Given the description of an element on the screen output the (x, y) to click on. 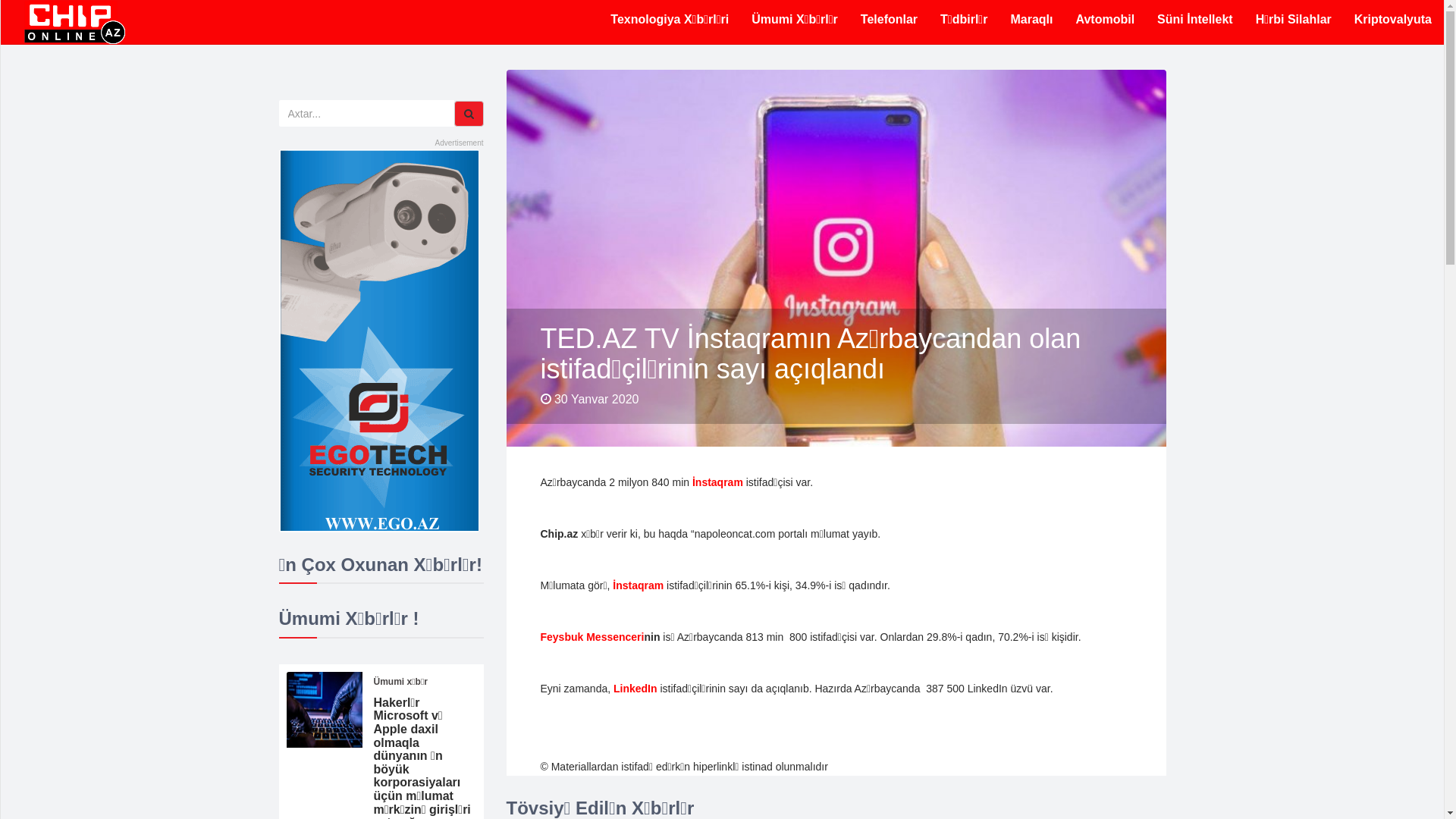
Telefonlar Element type: text (888, 19)
 LinkedIn  Element type: text (634, 688)
Avtomobil Element type: text (1104, 19)
Kriptovalyuta Element type: text (1393, 19)
Feysbuk Messenceri Element type: text (591, 636)
